Given the description of an element on the screen output the (x, y) to click on. 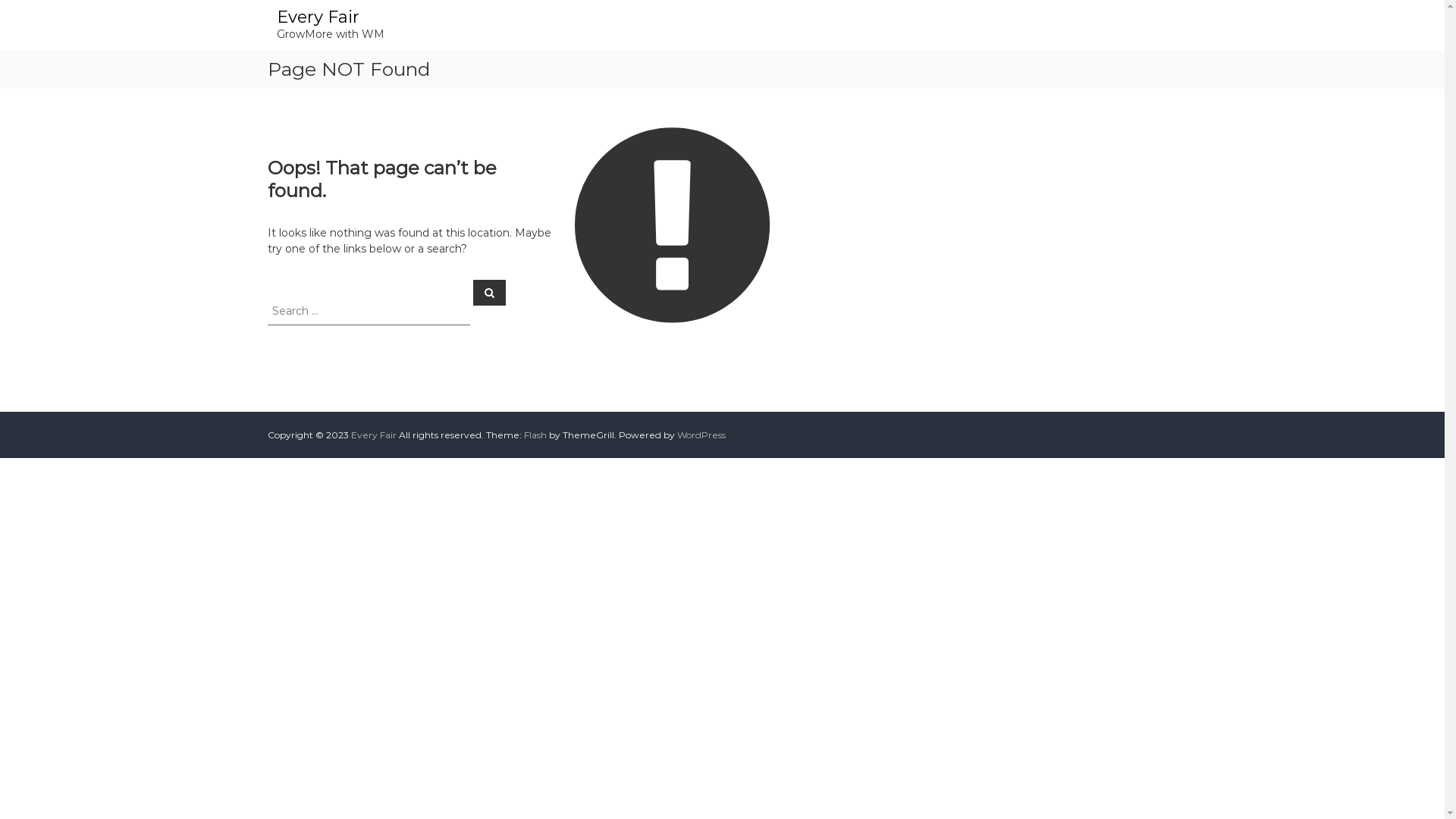
Flash Element type: text (534, 434)
Every Fair Element type: text (317, 16)
WordPress Element type: text (700, 434)
Search Element type: text (489, 291)
Every Fair Element type: text (372, 434)
